Given the description of an element on the screen output the (x, y) to click on. 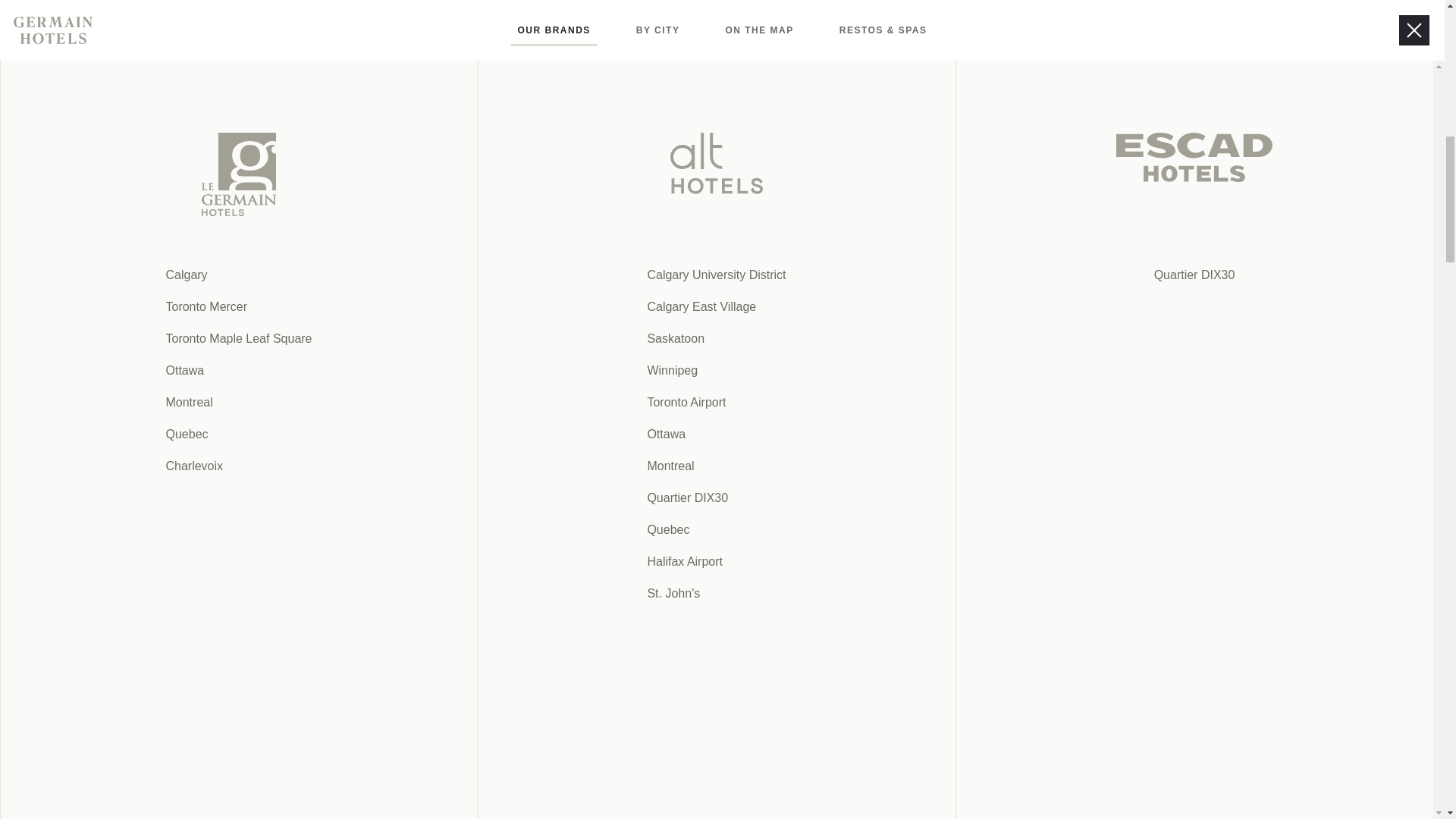
BROADWAY AVENUE (571, 115)
Broadway Saskatoon (571, 115)
